Given the description of an element on the screen output the (x, y) to click on. 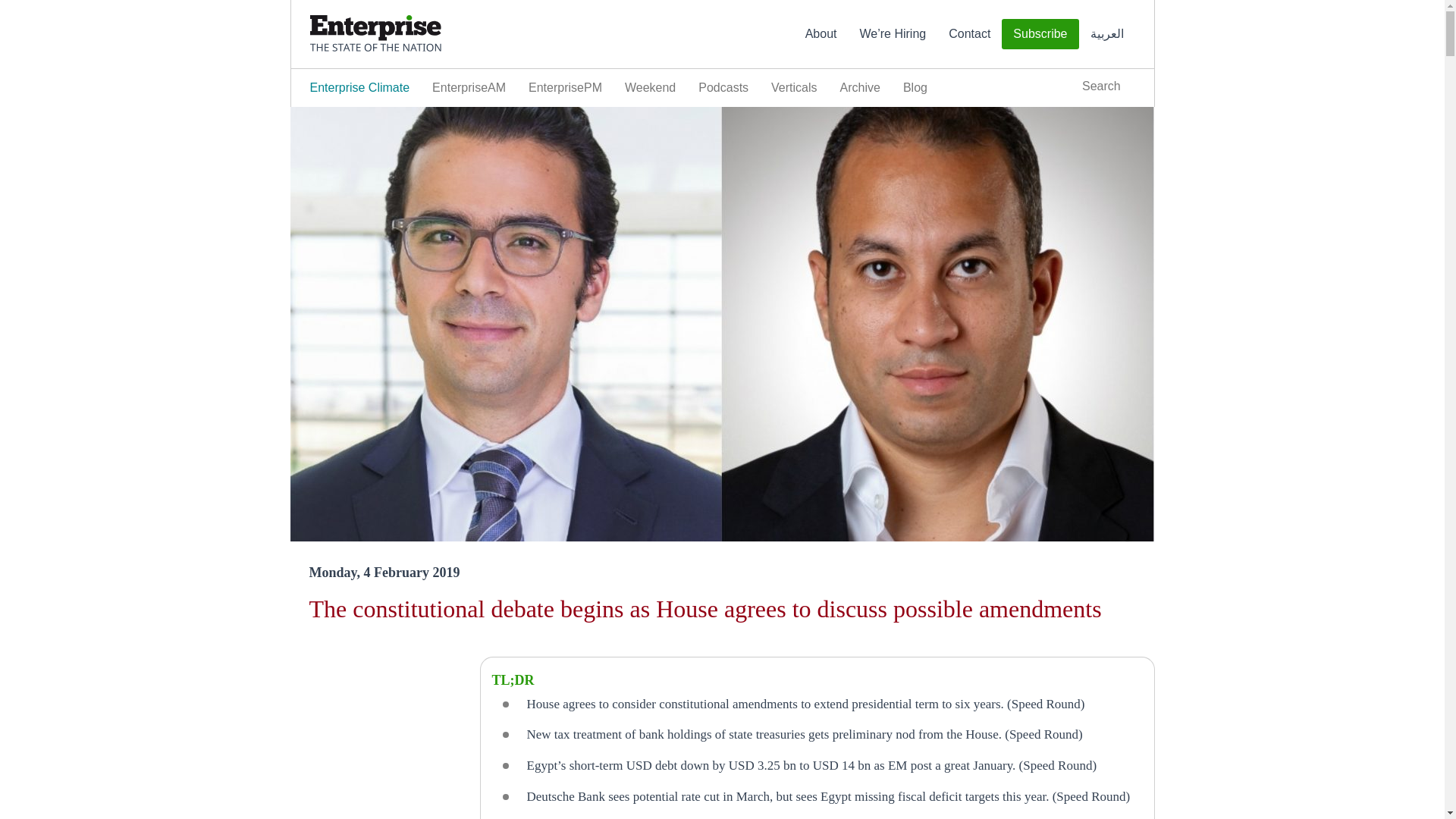
Subscribe (1039, 33)
About (820, 34)
Enterprise Climate (360, 87)
EnterprisePM (564, 87)
Contact (969, 34)
Weekend (649, 87)
Podcasts (723, 87)
EnterpriseAM (468, 87)
